Given the description of an element on the screen output the (x, y) to click on. 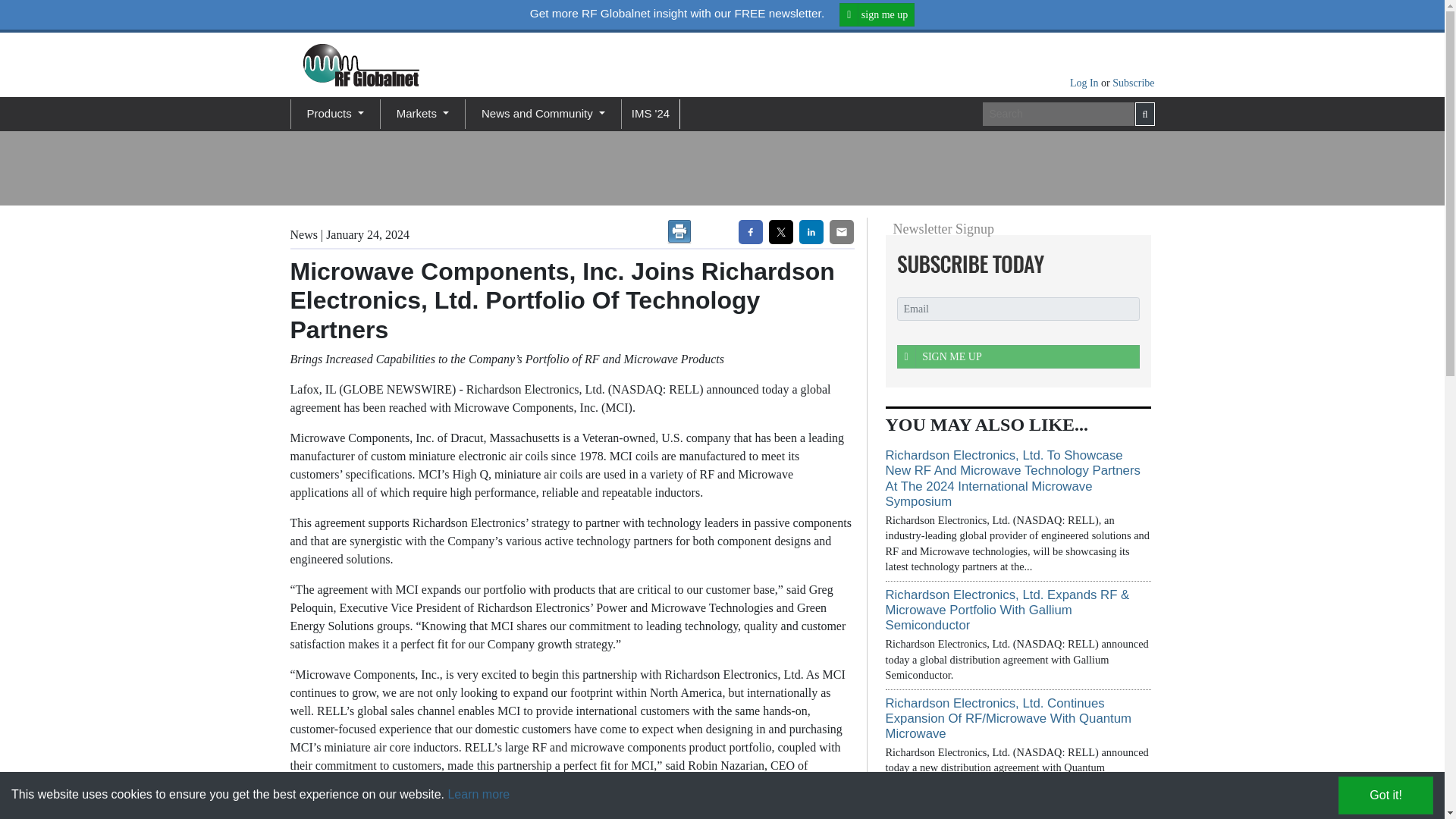
Subscribe (1133, 82)
Log In (1085, 82)
sign me up (877, 14)
Products (334, 113)
Newsletter Signup (1013, 263)
Print (679, 232)
3rd party ad content (1008, 168)
